Given the description of an element on the screen output the (x, y) to click on. 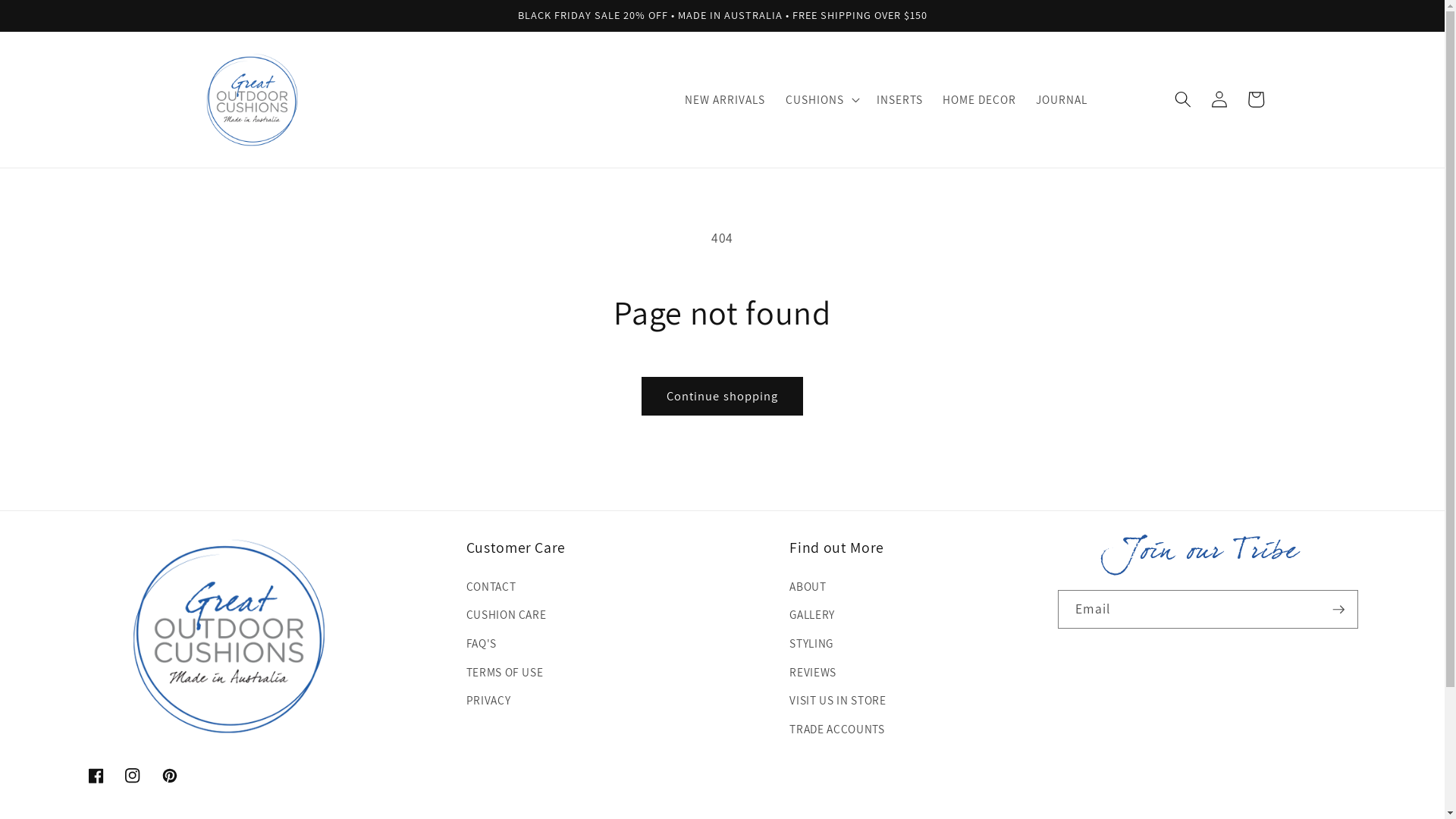
JOURNAL Element type: text (1061, 98)
TERMS OF USE Element type: text (504, 671)
Instagram Element type: text (132, 775)
Facebook Element type: text (96, 775)
REVIEWS Element type: text (812, 671)
FAQ'S Element type: text (481, 643)
VISIT US IN STORE Element type: text (837, 700)
Cart Element type: text (1255, 99)
CONTACT Element type: text (491, 588)
CUSHION CARE Element type: text (506, 614)
STYLING Element type: text (811, 643)
TRADE ACCOUNTS Element type: text (836, 728)
INSERTS Element type: text (898, 98)
HOME DECOR Element type: text (979, 98)
Log in Element type: text (1219, 99)
Pinterest Element type: text (168, 775)
Continue shopping Element type: text (722, 396)
GALLERY Element type: text (811, 614)
NEW ARRIVALS Element type: text (724, 98)
ABOUT Element type: text (807, 588)
PRIVACY Element type: text (488, 700)
